Given the description of an element on the screen output the (x, y) to click on. 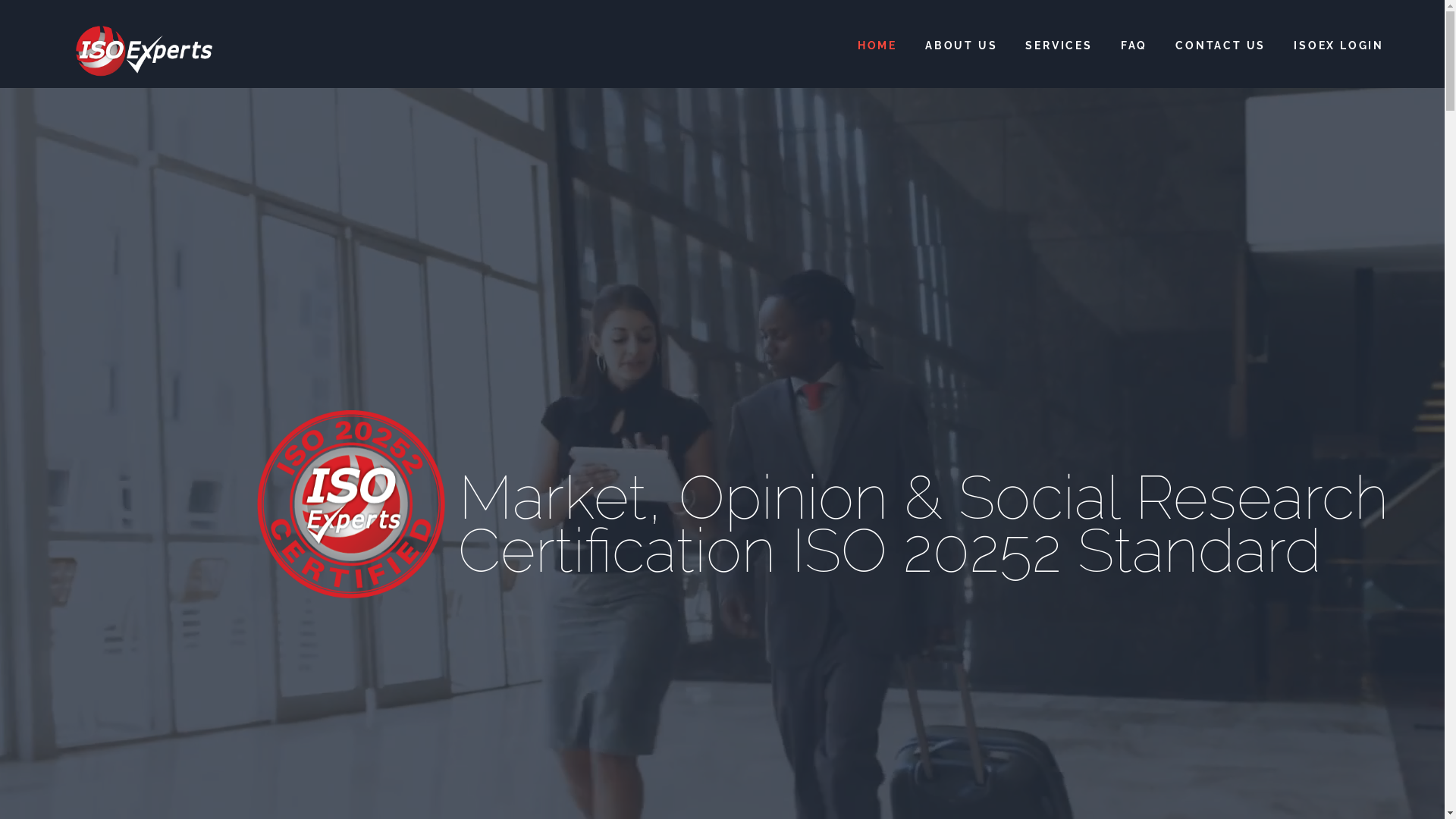
ABOUT US Element type: text (961, 45)
ISOEX LOGIN Element type: text (1338, 45)
FAQ Element type: text (1133, 45)
CONTACT US Element type: text (1220, 45)
SERVICES Element type: text (1058, 45)
HOME Element type: text (877, 45)
